Given the description of an element on the screen output the (x, y) to click on. 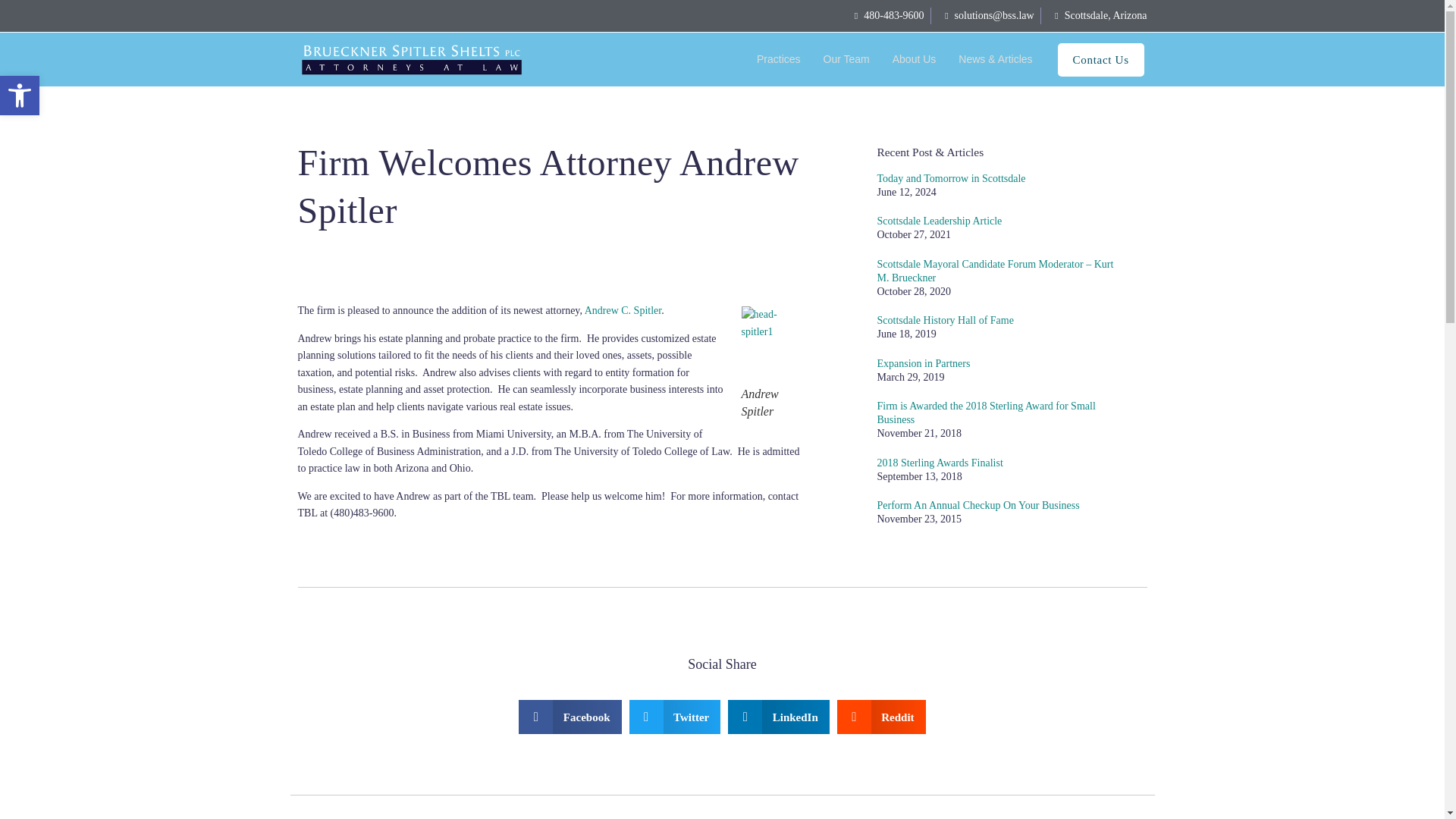
Contact Us (1101, 59)
480-483-9600 (884, 15)
Practices (778, 59)
Accessibility Tools (19, 95)
Accessibility Tools (19, 95)
About Us (914, 59)
Scottsdale, Arizona (19, 95)
Our Team (1096, 15)
